Given the description of an element on the screen output the (x, y) to click on. 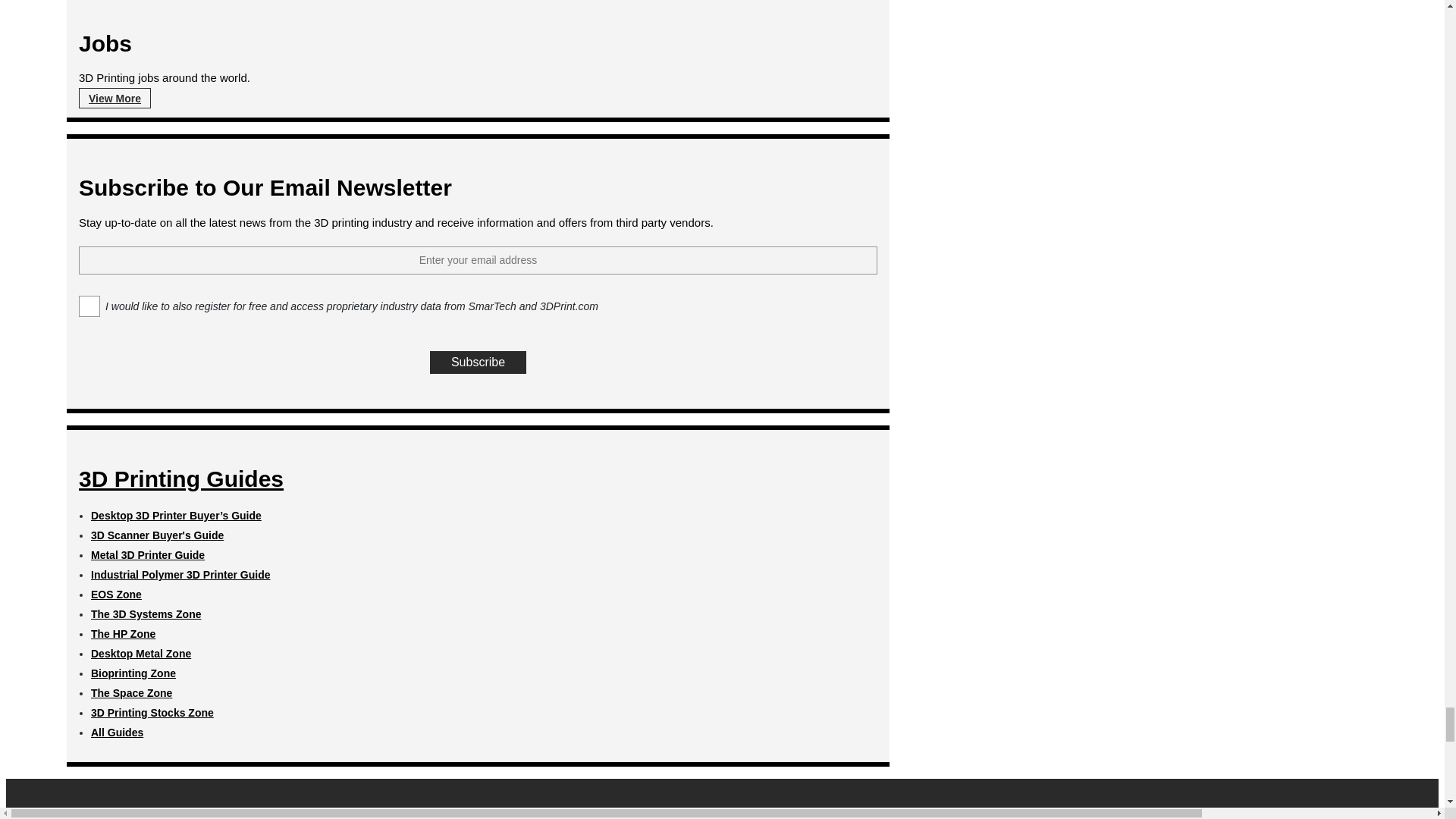
Subscribe (477, 362)
